Given the description of an element on the screen output the (x, y) to click on. 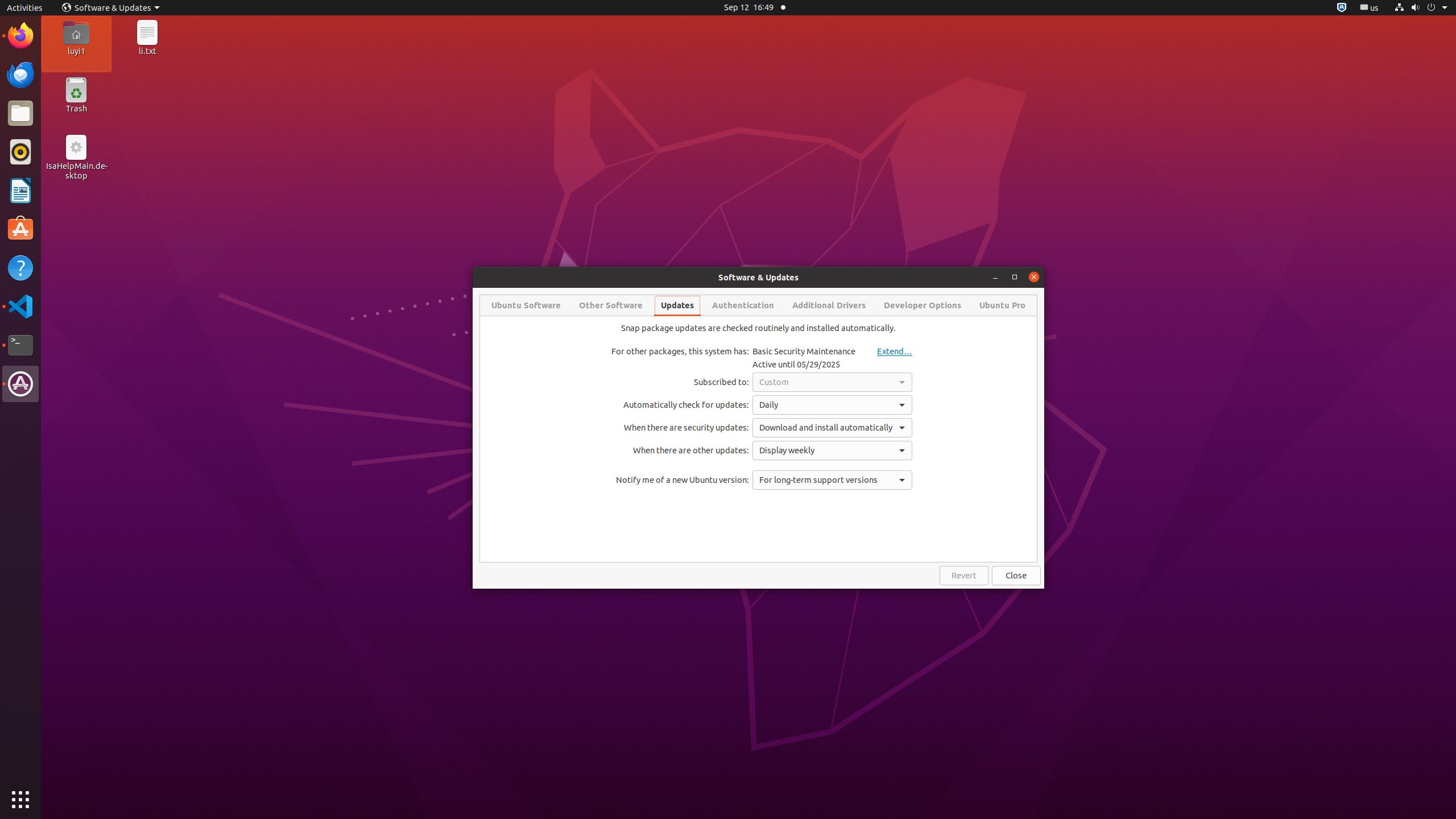
Additional Drivers Element type: page-tab (828, 304)
Terminal Element type: push-button (20, 344)
Subscribed to: Element type: label (680, 381)
